Given the description of an element on the screen output the (x, y) to click on. 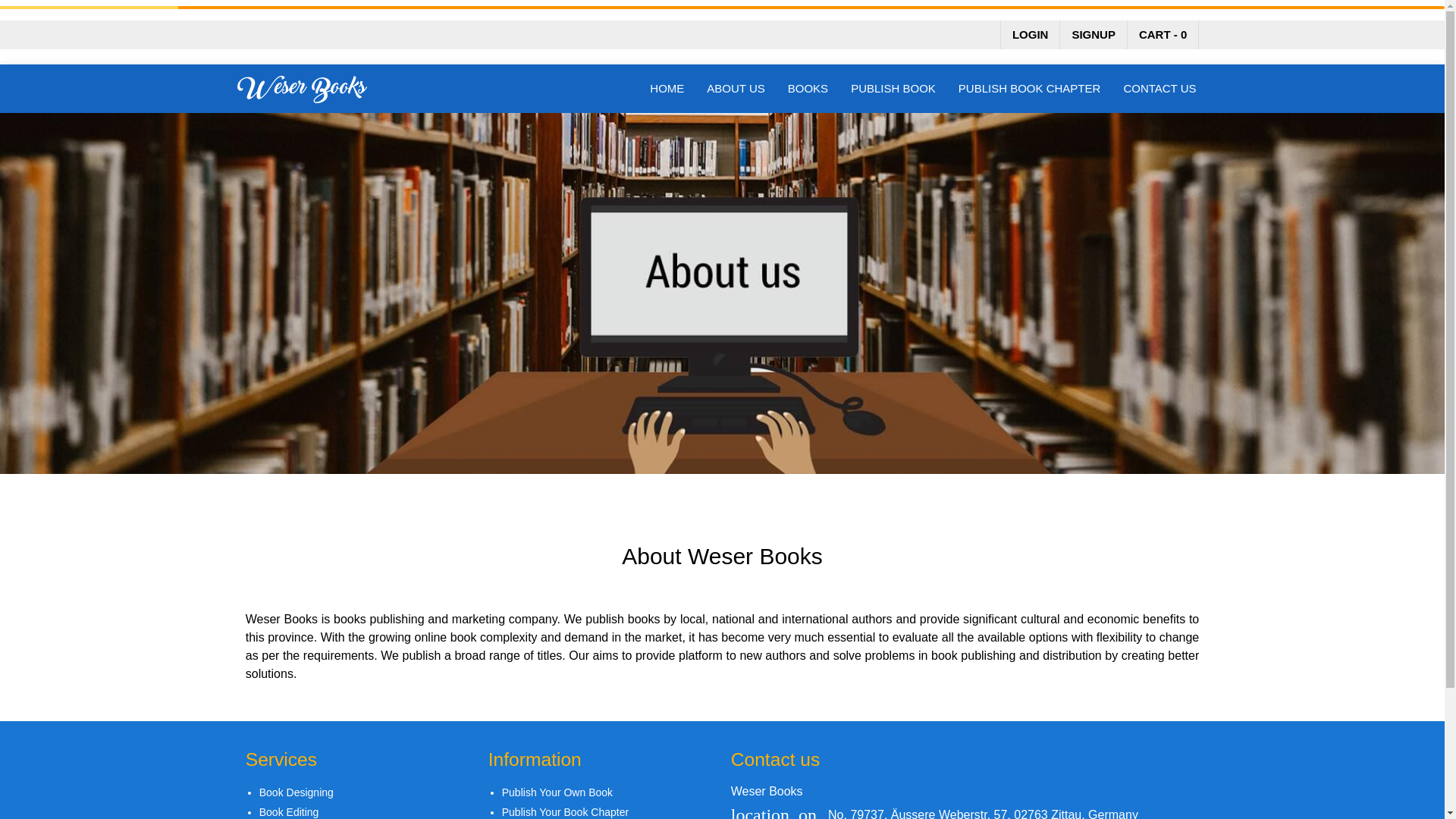
SIGNUP (1092, 34)
Weser Books (300, 88)
Publish Your Book Chapter (565, 811)
BOOKS (808, 88)
PUBLISH BOOK (893, 88)
HOME (667, 88)
LOGIN (1029, 34)
PUBLISH BOOK CHAPTER (1029, 88)
ABOUT US (735, 88)
CONTACT US (1159, 88)
